Given the description of an element on the screen output the (x, y) to click on. 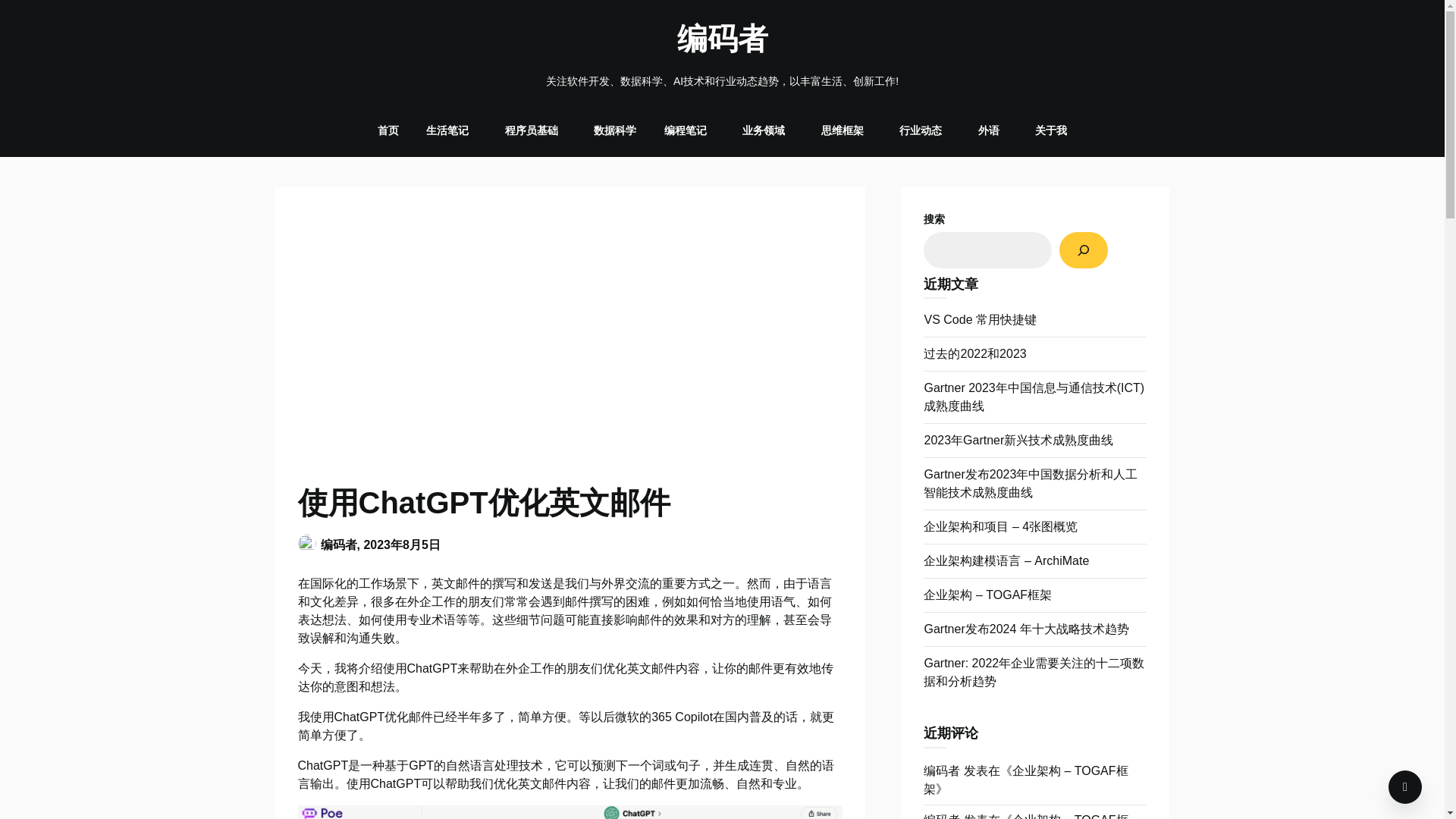
To Top (1405, 786)
